Given the description of an element on the screen output the (x, y) to click on. 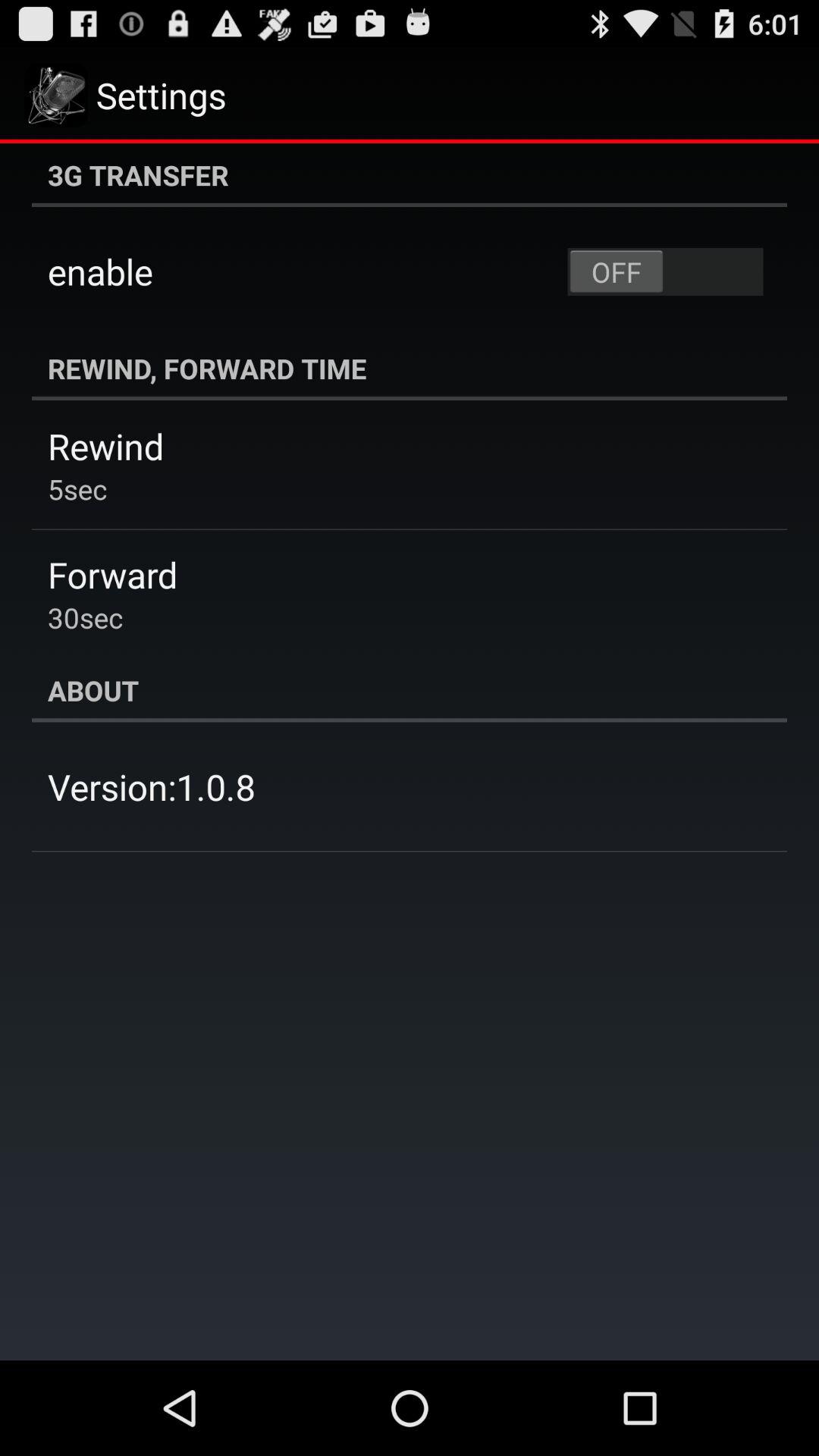
launch the item below the 3g transfer icon (665, 271)
